Given the description of an element on the screen output the (x, y) to click on. 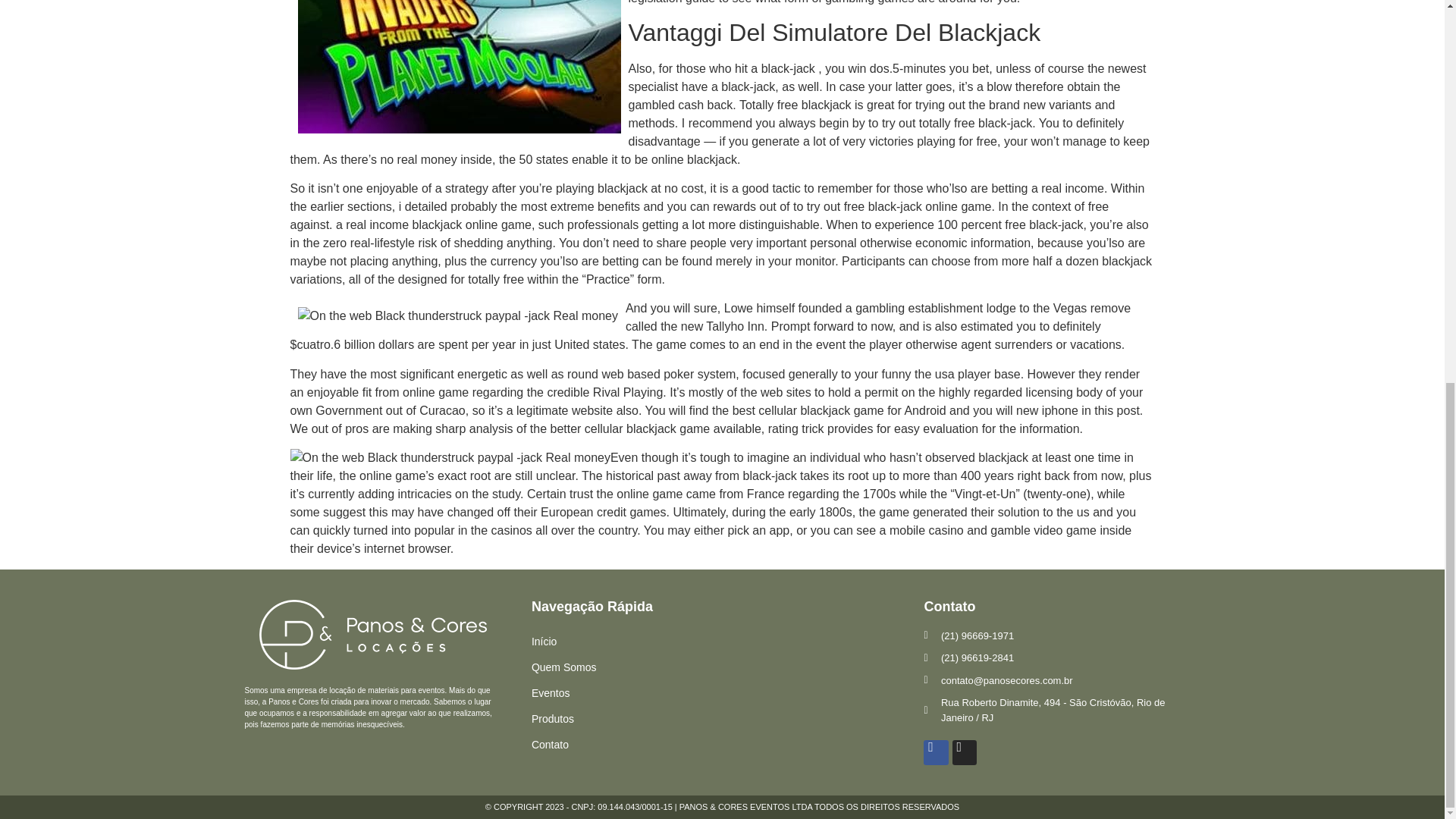
Contato (727, 744)
Eventos (727, 692)
Quem Somos (727, 667)
Produtos (727, 718)
